Given the description of an element on the screen output the (x, y) to click on. 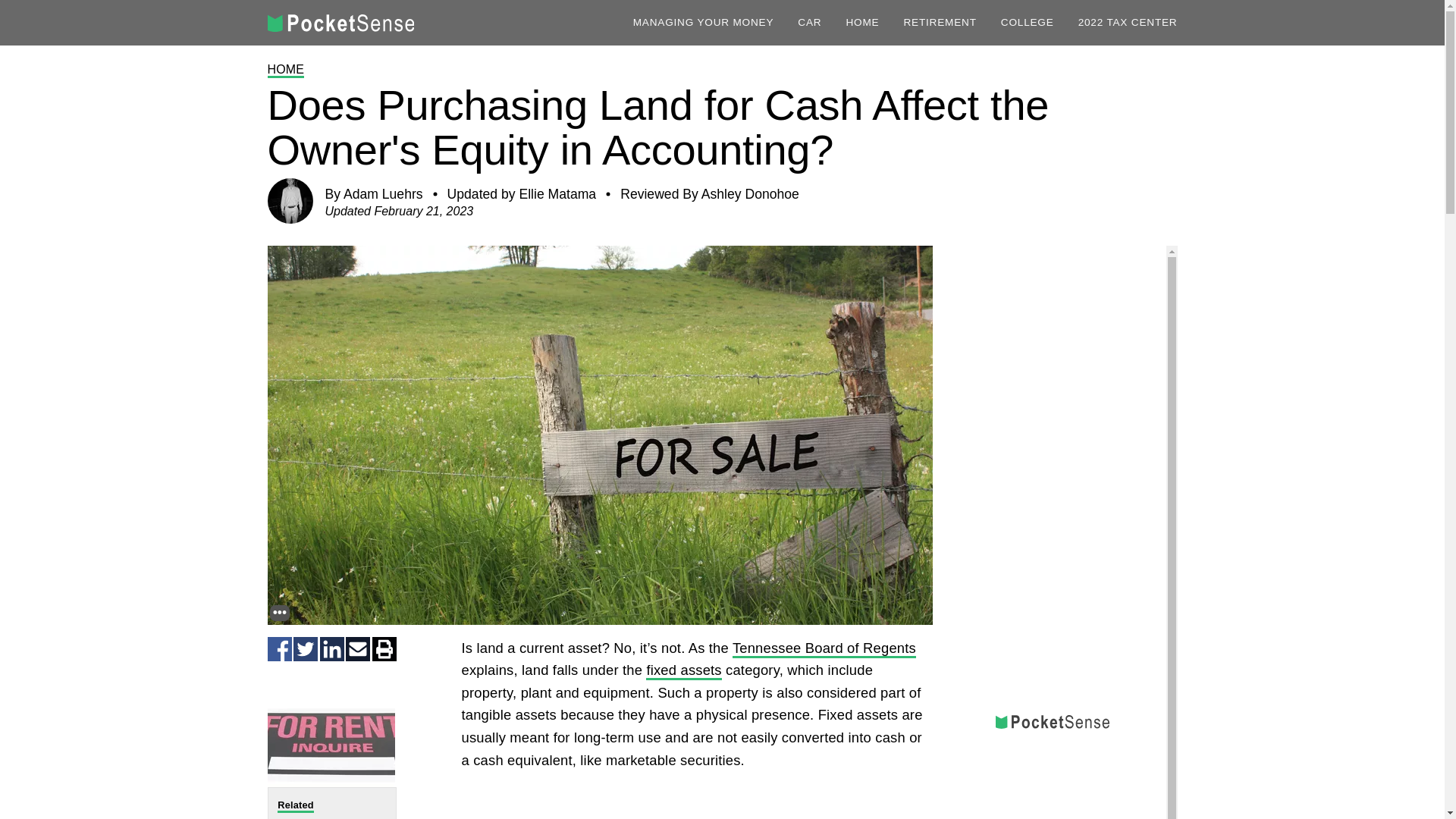
RETIREMENT (938, 22)
HOME (862, 22)
Tennessee Board of Regents (823, 648)
HOME (285, 70)
COLLEGE (1027, 22)
2022 TAX CENTER (1127, 22)
fixed assets (683, 670)
MANAGING YOUR MONEY (703, 22)
